Given the description of an element on the screen output the (x, y) to click on. 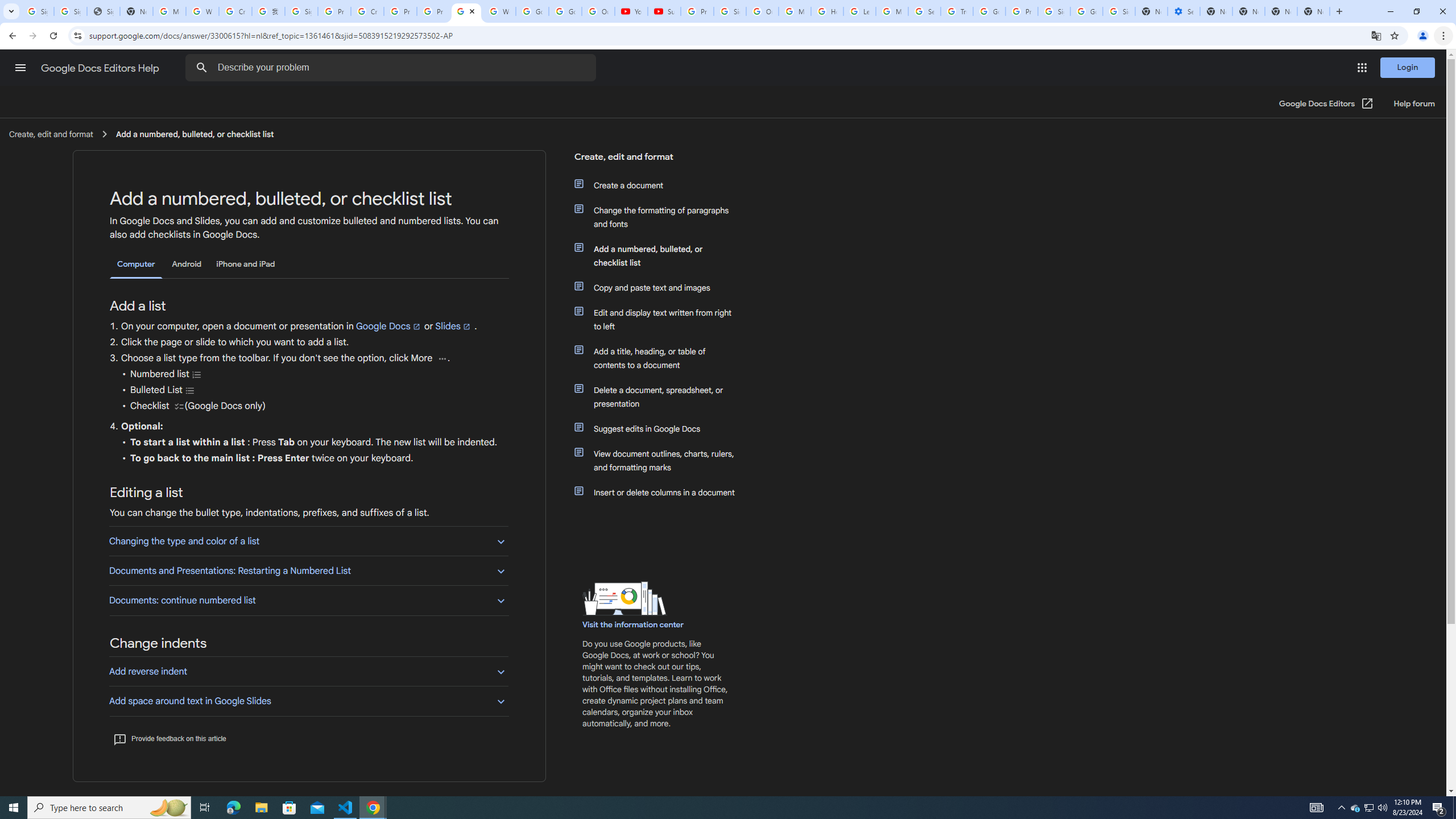
Google Account (564, 11)
Changing the type and color of a list (308, 540)
Sign In - USA TODAY (103, 11)
Sign in - Google Accounts (1118, 11)
Add a numbered, bulleted, or checklist list (661, 255)
Create your Google Account (367, 11)
Sign in - Google Accounts (37, 11)
Search our Doodle Library Collection - Google Doodles (924, 11)
